Given the description of an element on the screen output the (x, y) to click on. 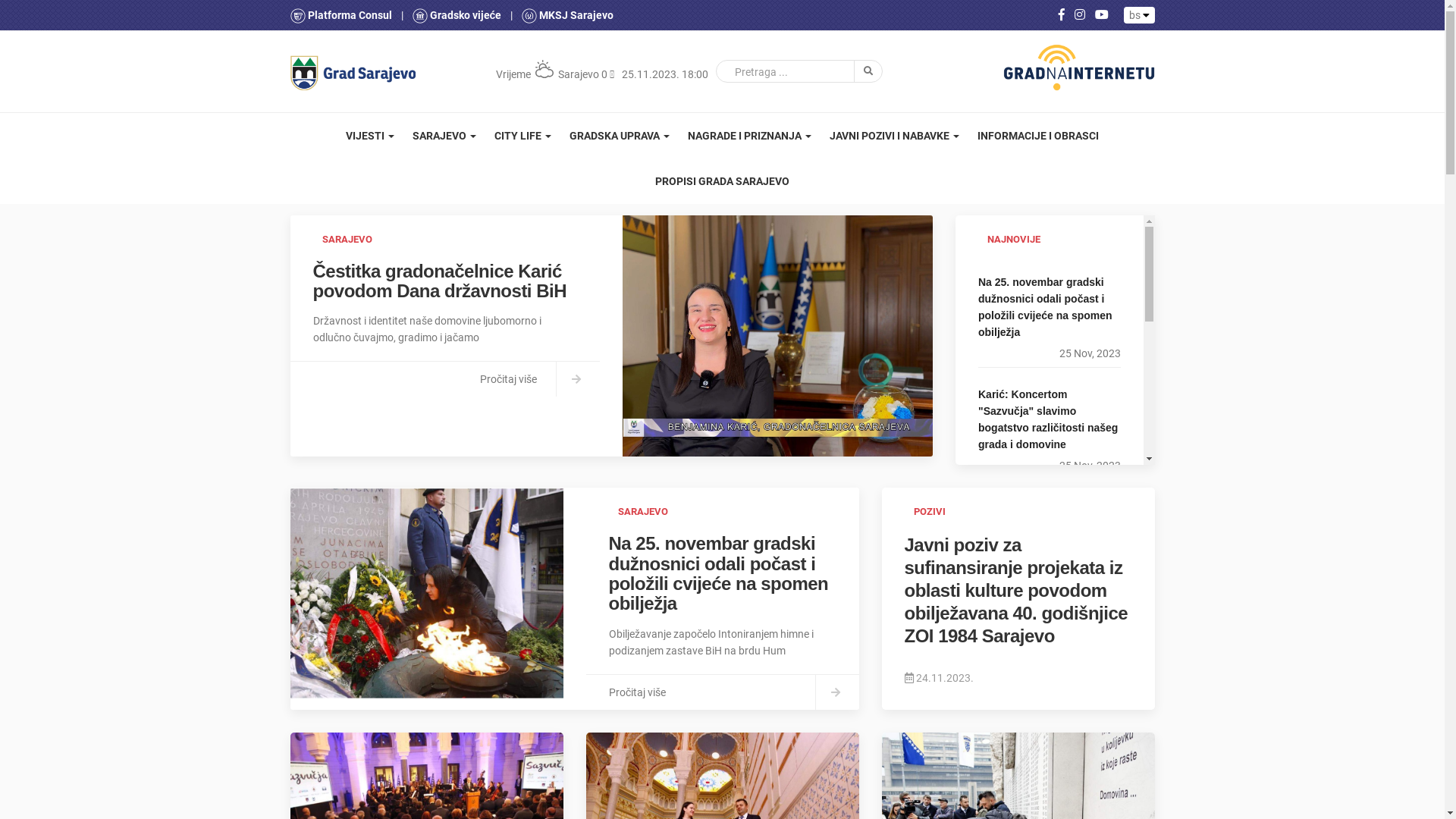
SARAJEVO Element type: text (444, 135)
VIJESTI Element type: text (369, 135)
PROPISI GRADA SARAJEVO Element type: text (722, 180)
JAVNI POZIVI I NABAVKE Element type: text (894, 135)
INFORMACIJE I OBRASCI Element type: text (1037, 135)
NAGRADE I PRIZNANJA Element type: text (749, 135)
bs Element type: text (1138, 14)
CITY LIFE Element type: text (522, 135)
Platforma Consul Element type: text (341, 15)
MKSJ Sarajevo Element type: text (567, 15)
GRADSKA UPRAVA Element type: text (619, 135)
